Given the description of an element on the screen output the (x, y) to click on. 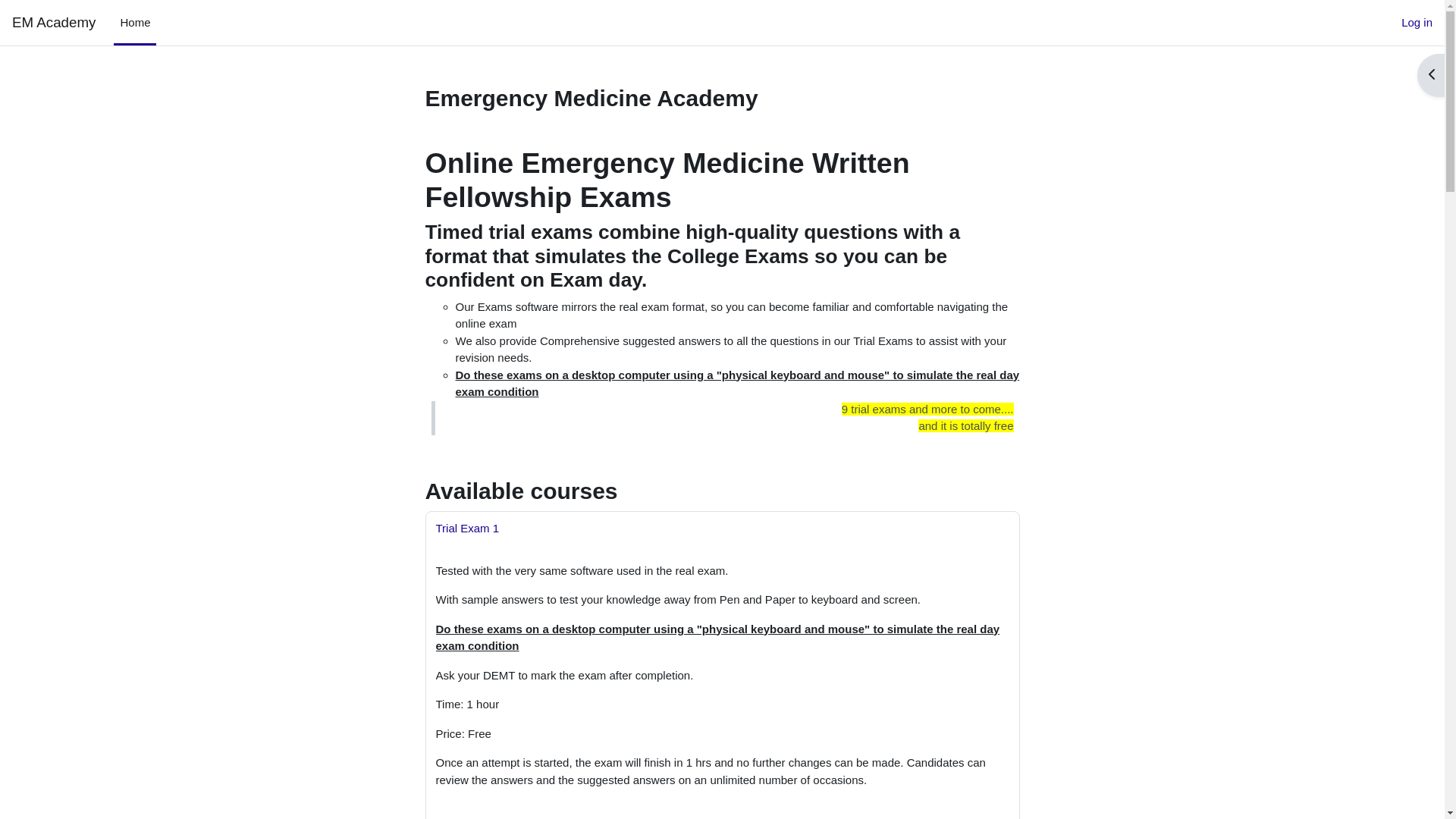
EM Academy Element type: text (53, 22)
Log in Element type: text (1416, 22)
Open block drawer Element type: text (1430, 75)
Home Element type: text (134, 22)
Trial Exam 1 Element type: text (466, 527)
